Given the description of an element on the screen output the (x, y) to click on. 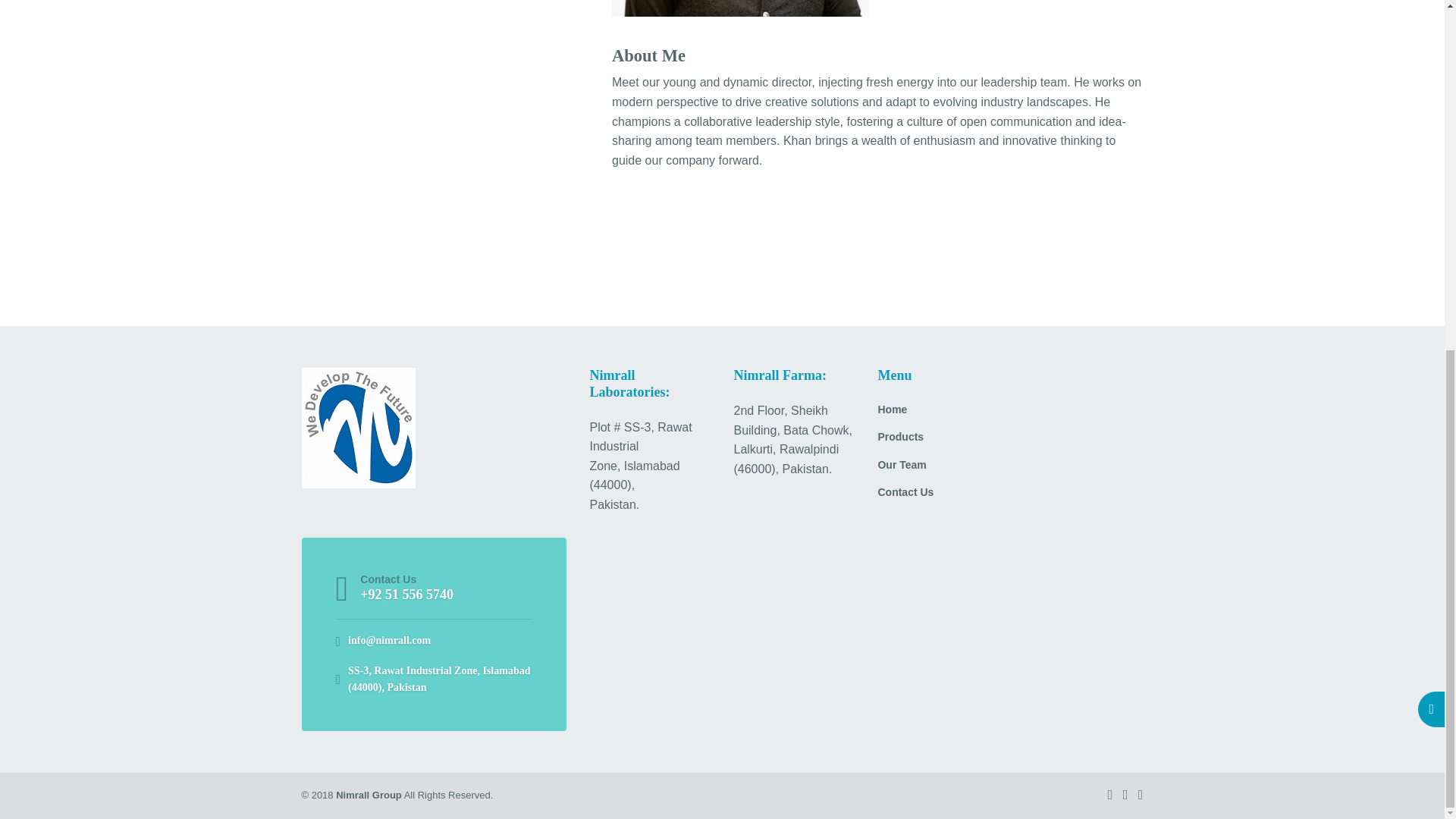
Our Team (1009, 470)
Nimrall Group (368, 794)
Products (1009, 441)
Contact Us (1009, 497)
Home (1009, 414)
